Given the description of an element on the screen output the (x, y) to click on. 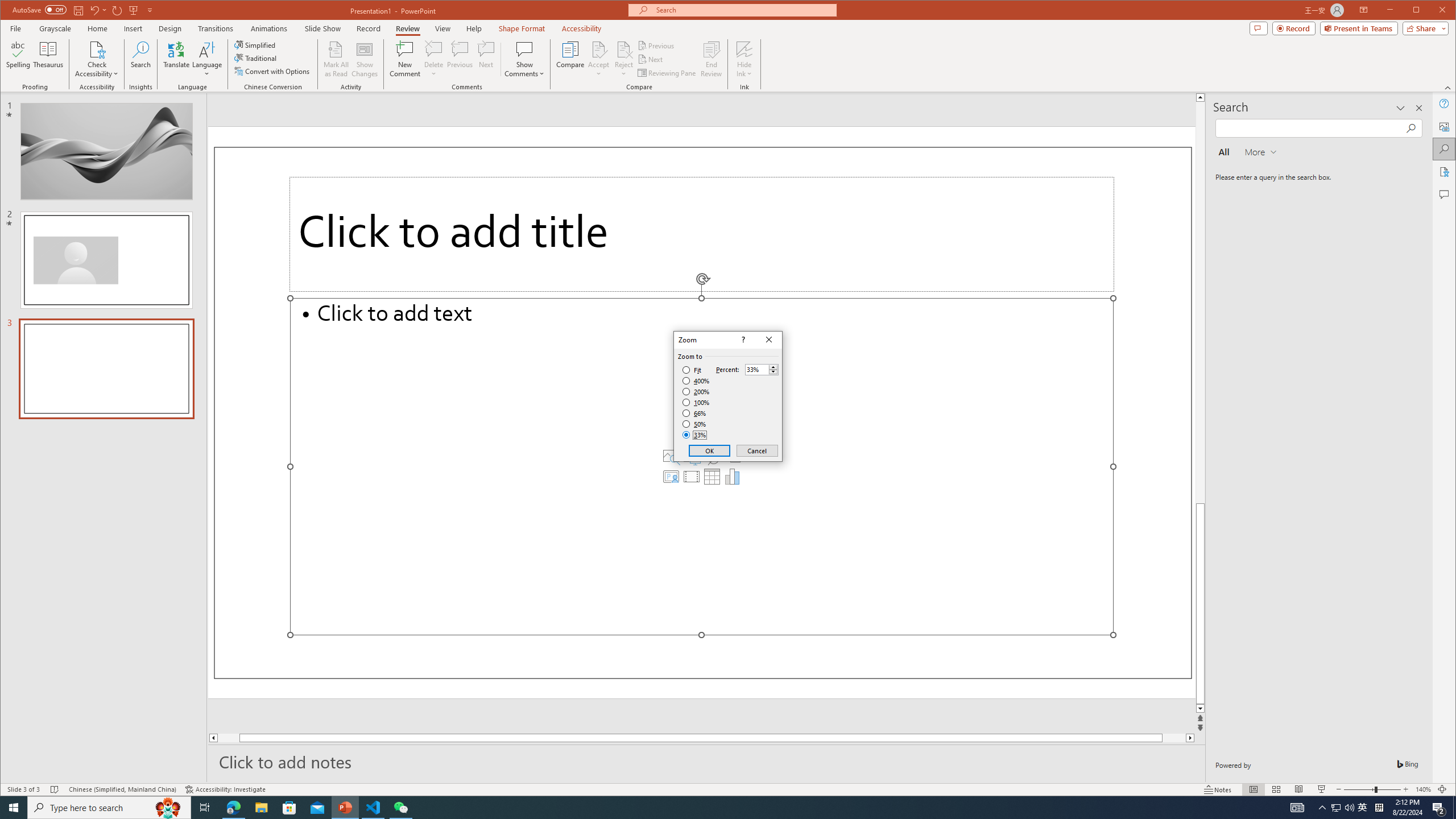
Fit (691, 370)
Grayscale (55, 28)
End Review (710, 59)
200% (696, 391)
